Given the description of an element on the screen output the (x, y) to click on. 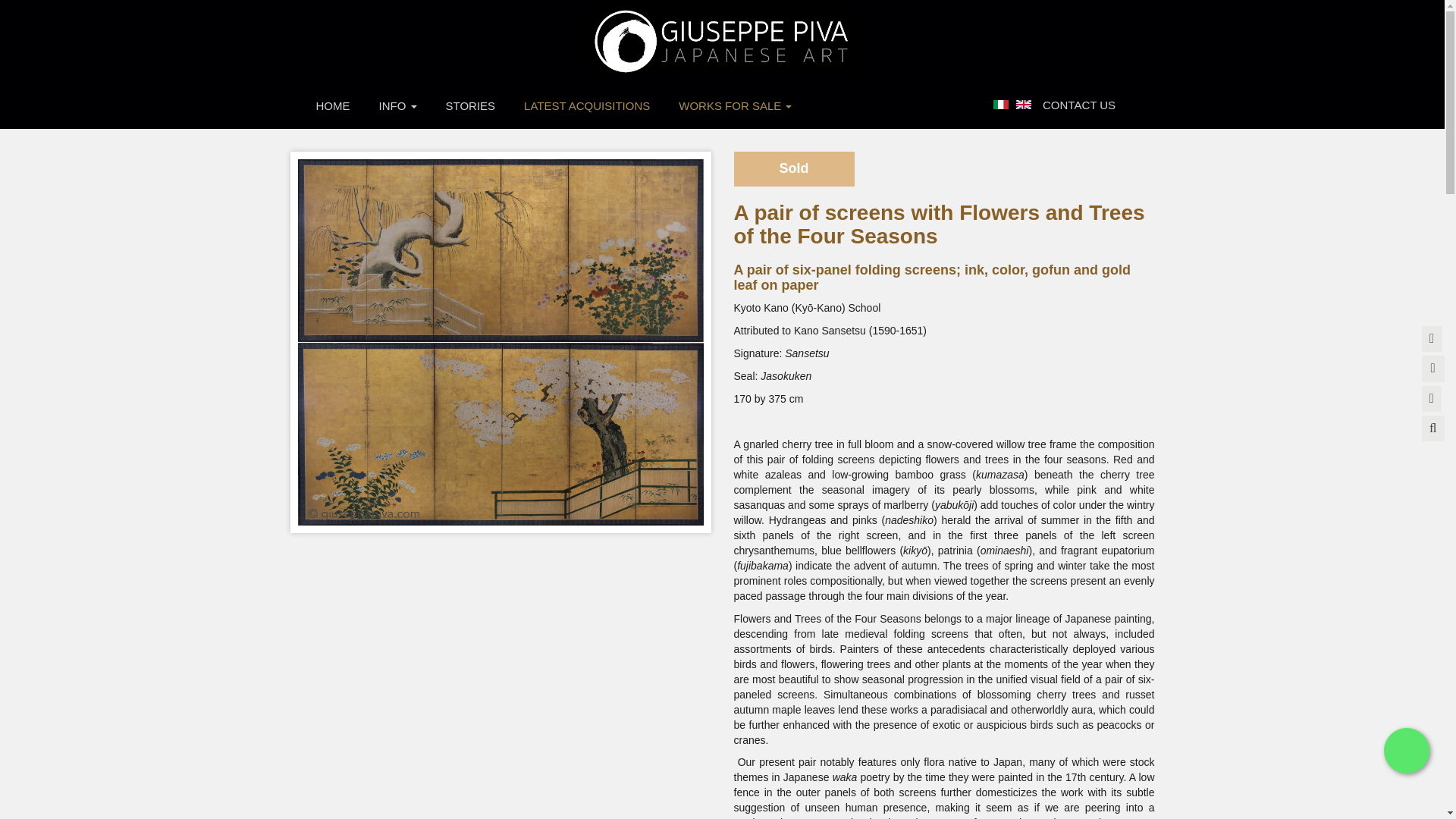
Italiano (1000, 103)
STORIES (469, 105)
HOME (333, 105)
LATEST ACQUISITIONS (586, 105)
A pair of screens with Flowers and Trees of the Four Seasons (1023, 103)
INFO (397, 105)
English (1023, 103)
